Given the description of an element on the screen output the (x, y) to click on. 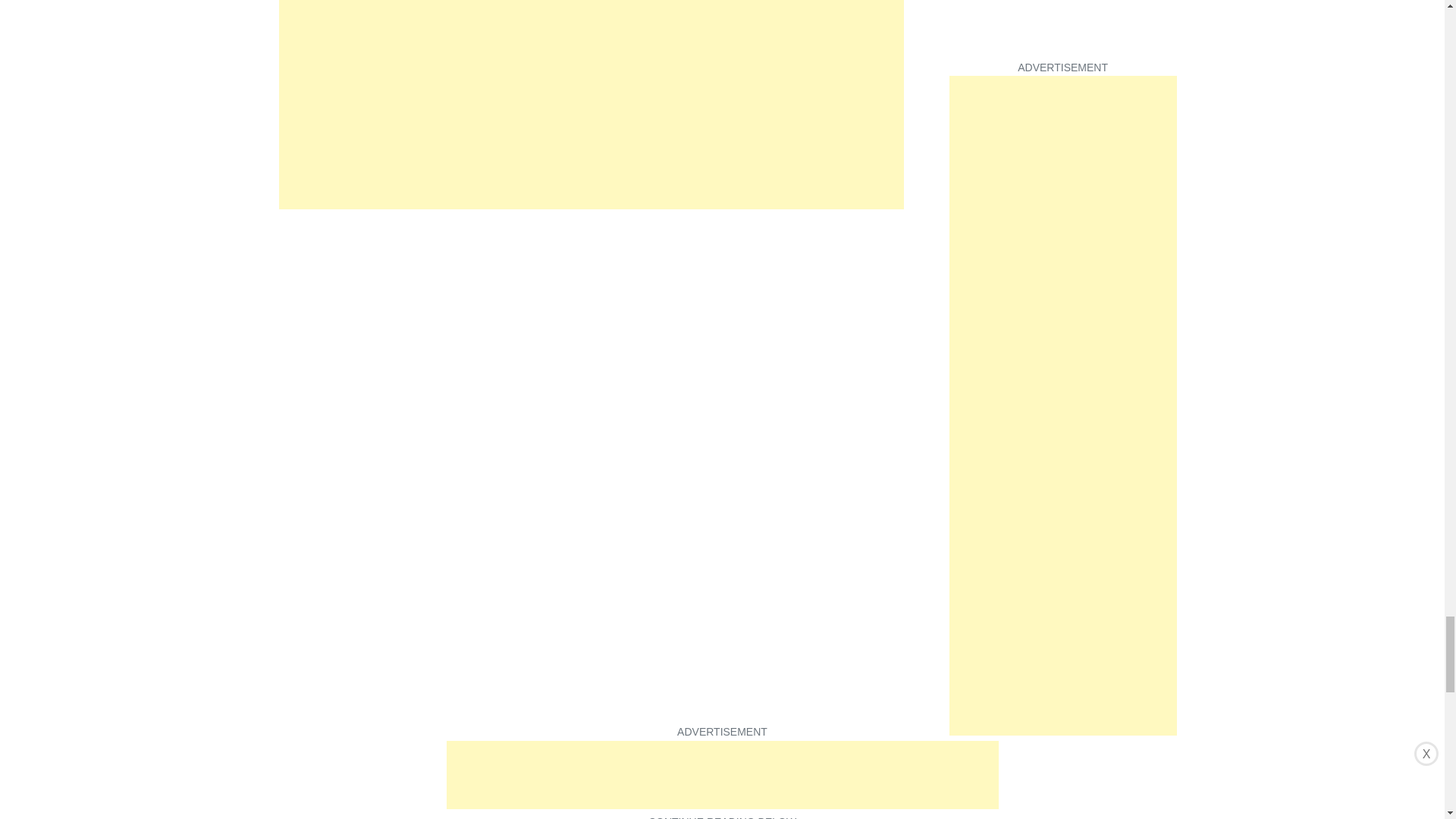
Share on facebook (291, 709)
